Given the description of an element on the screen output the (x, y) to click on. 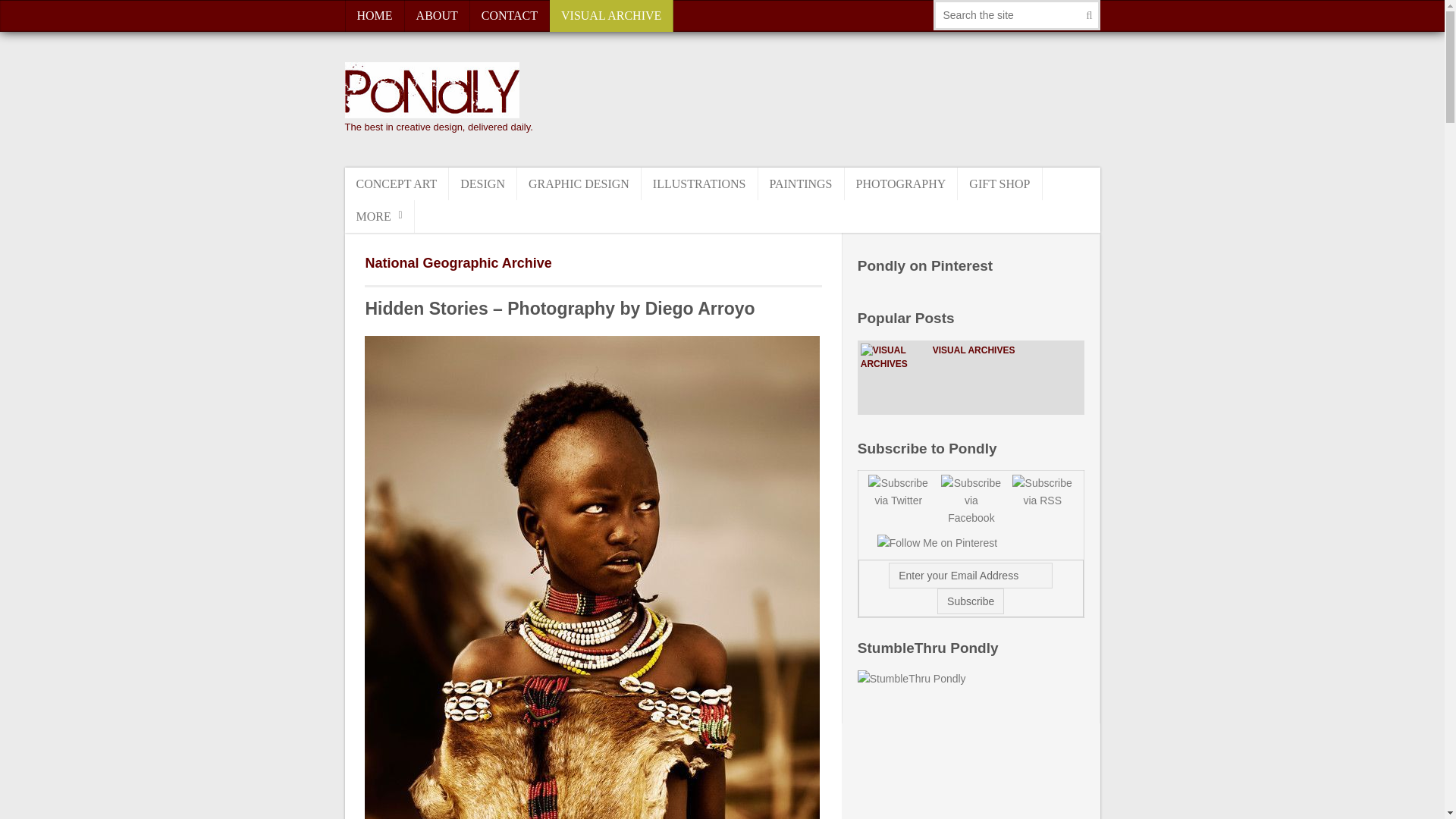
GRAPHIC DESIGN (579, 183)
HOME (373, 15)
ILLUSTRATIONS (700, 183)
ABOUT (437, 15)
CONTACT (510, 15)
GIFT SHOP (1000, 183)
PHOTOGRAPHY (901, 183)
Subscribe (970, 601)
Enter your Email Address (970, 575)
CONCEPT ART (395, 183)
